Given the description of an element on the screen output the (x, y) to click on. 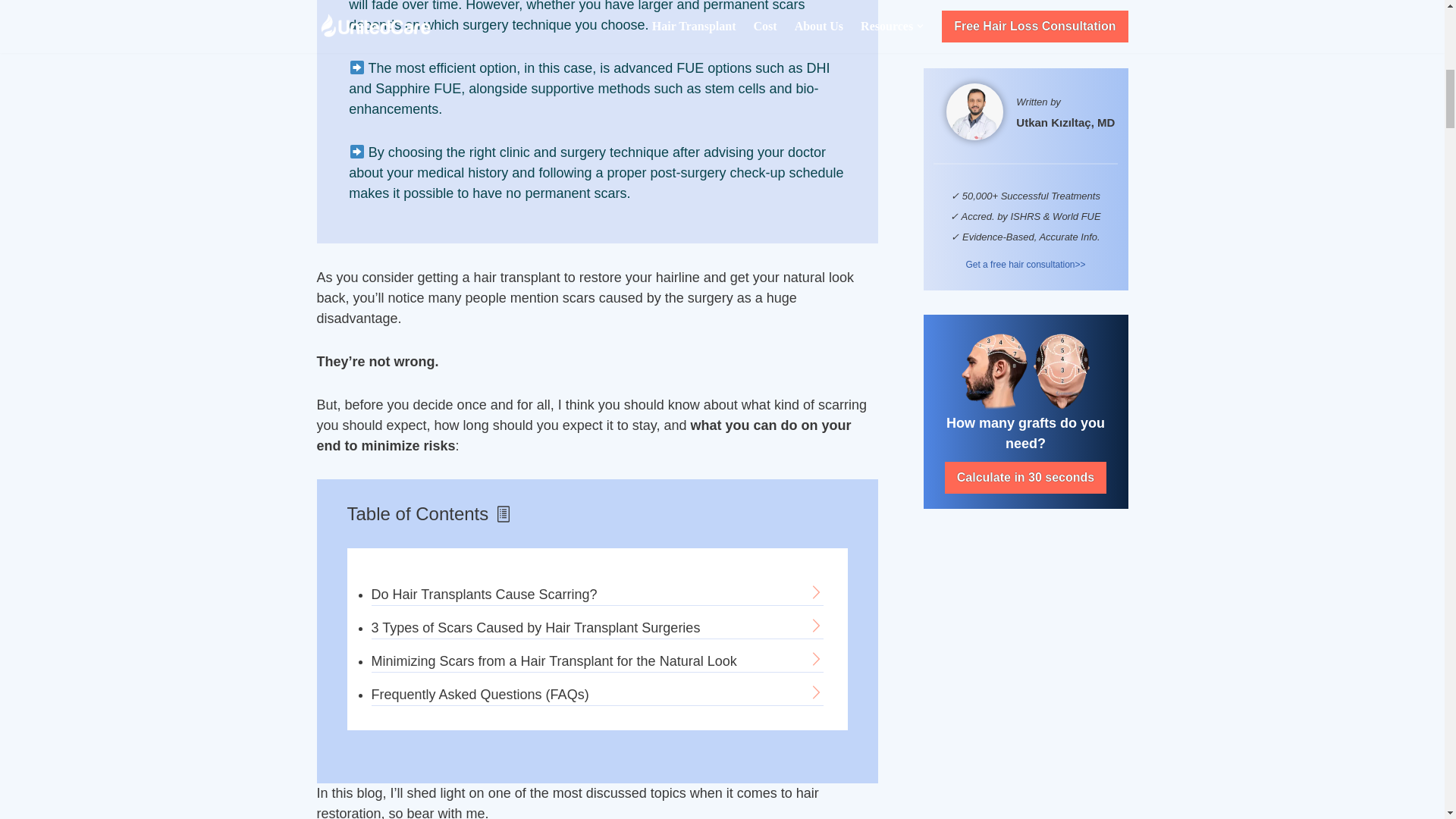
Do Hair Transplants Cause Scarring? (597, 594)
Minimizing Scars from a Hair Transplant for the Natural Look (597, 661)
3 Types of Scars Caused by Hair Transplant Surgeries (597, 628)
